Given the description of an element on the screen output the (x, y) to click on. 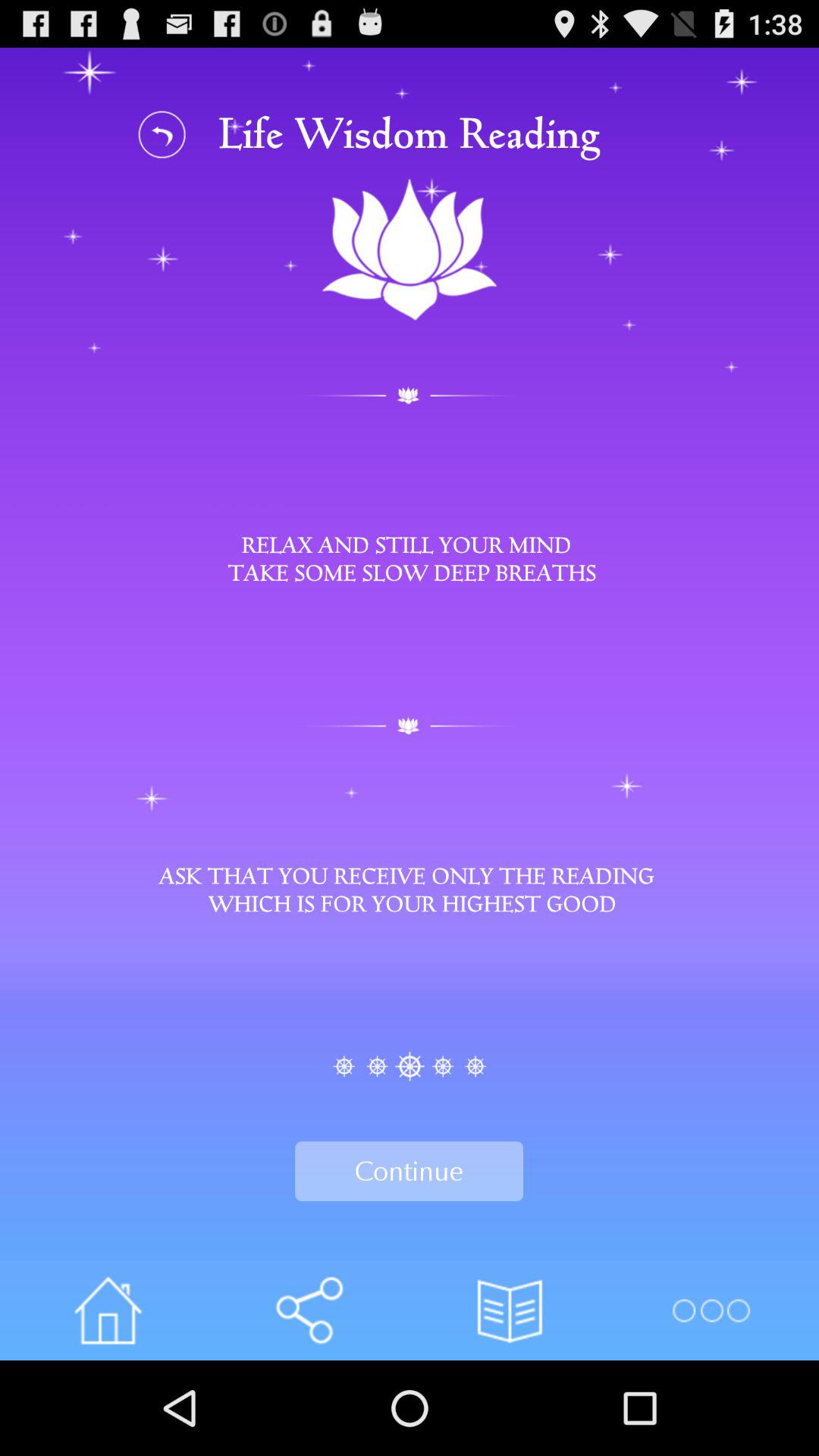
share the content (308, 1310)
